Given the description of an element on the screen output the (x, y) to click on. 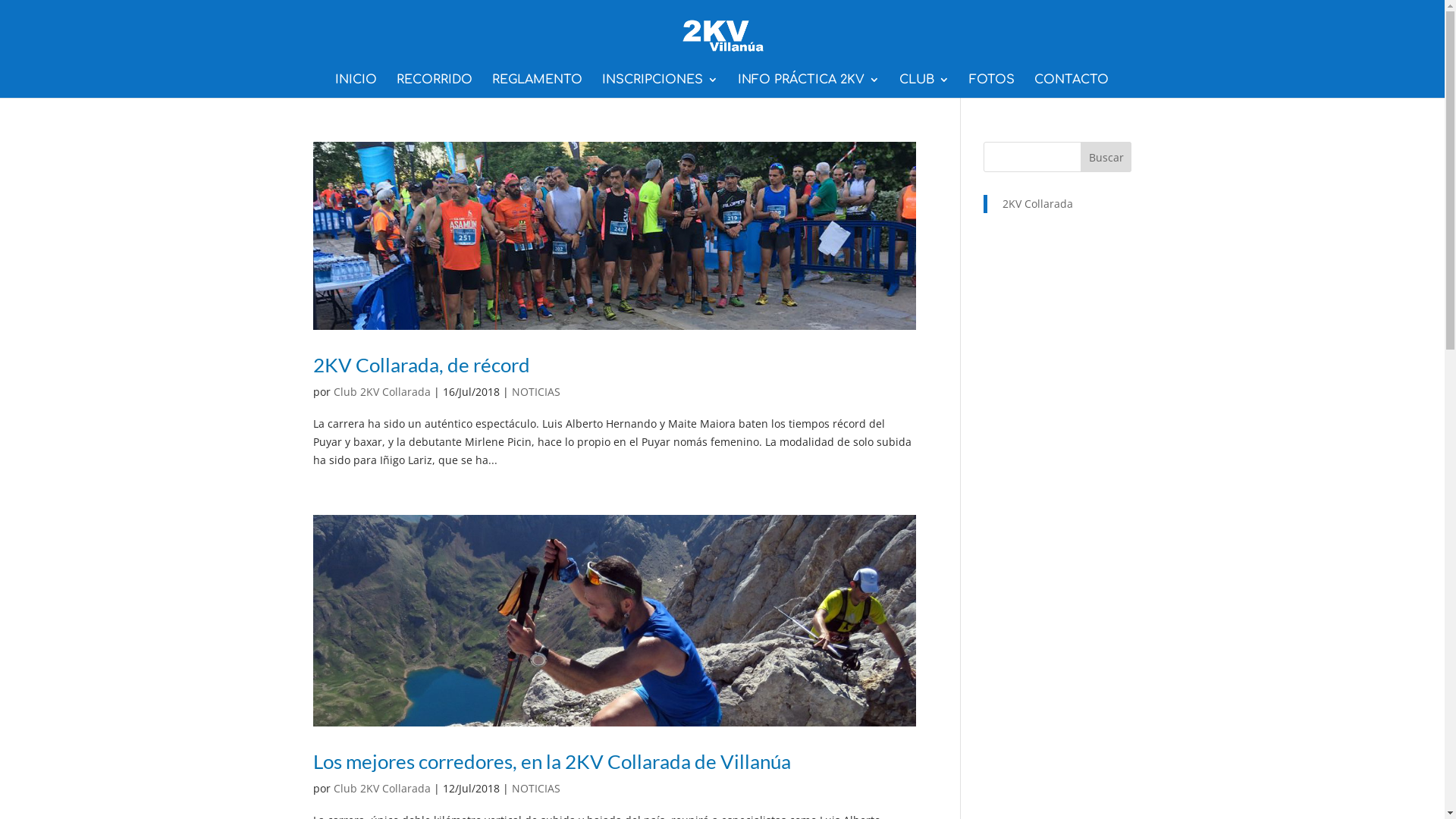
NOTICIAS Element type: text (535, 788)
Buscar Element type: text (1106, 156)
2KV Collarada Element type: text (1037, 203)
FOTOS Element type: text (991, 85)
CONTACTO Element type: text (1071, 85)
INICIO Element type: text (355, 85)
RECORRIDO Element type: text (433, 85)
INSCRIPCIONES Element type: text (660, 85)
NOTICIAS Element type: text (535, 391)
Club 2KV Collarada Element type: text (381, 788)
REGLAMENTO Element type: text (536, 85)
Club 2KV Collarada Element type: text (381, 391)
CLUB Element type: text (924, 85)
